Given the description of an element on the screen output the (x, y) to click on. 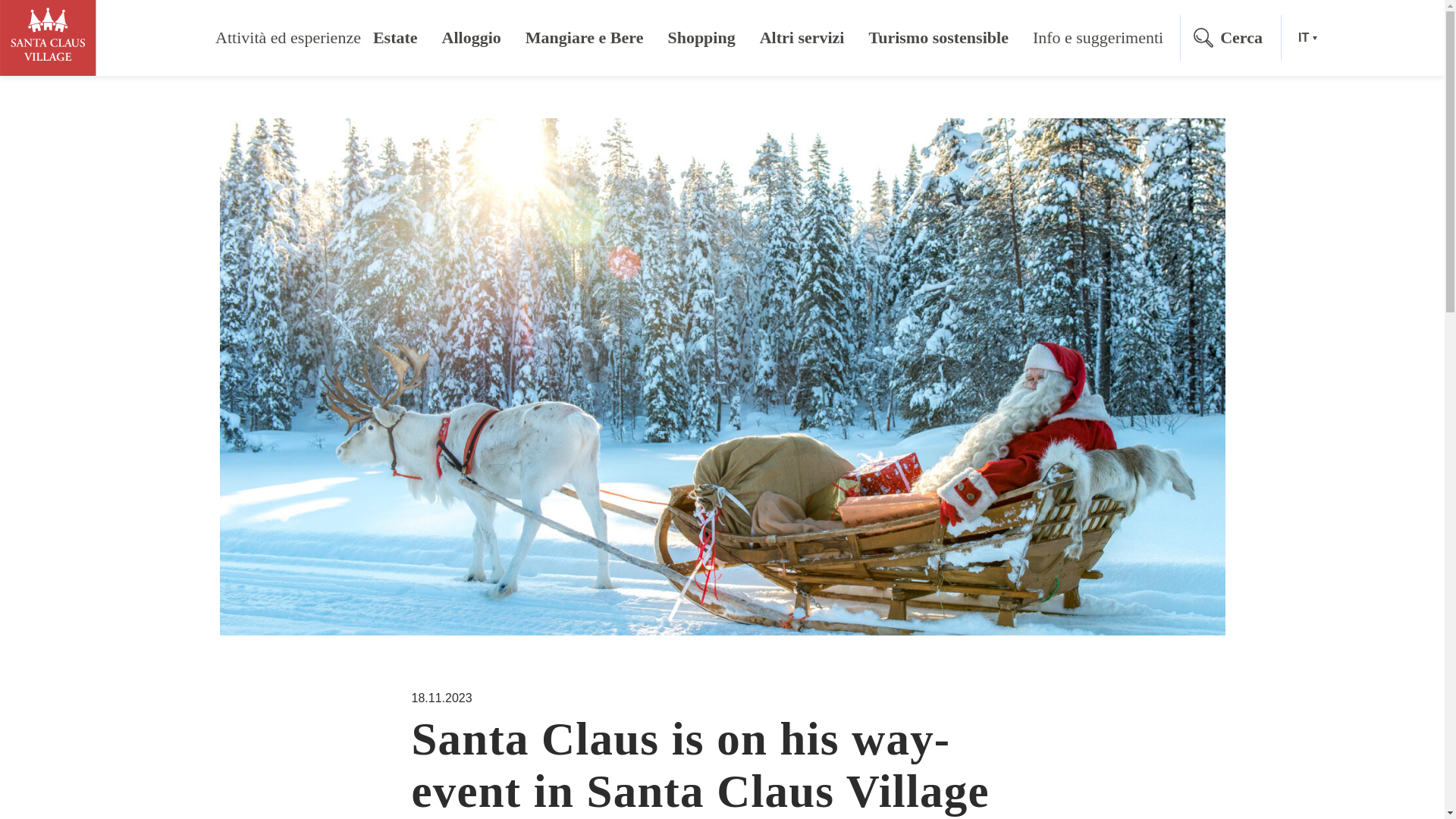
Shopping (700, 38)
IT (1307, 37)
Mangiare e Bere (584, 38)
Alloggio (471, 38)
Carta geografica (1404, 36)
Altri servizi (802, 38)
Cerca (1230, 37)
Vai al contenuto (758, 11)
Info e suggerimenti (1097, 38)
Orari e date di apertura (1375, 37)
Turismo sostensible (939, 38)
